Given the description of an element on the screen output the (x, y) to click on. 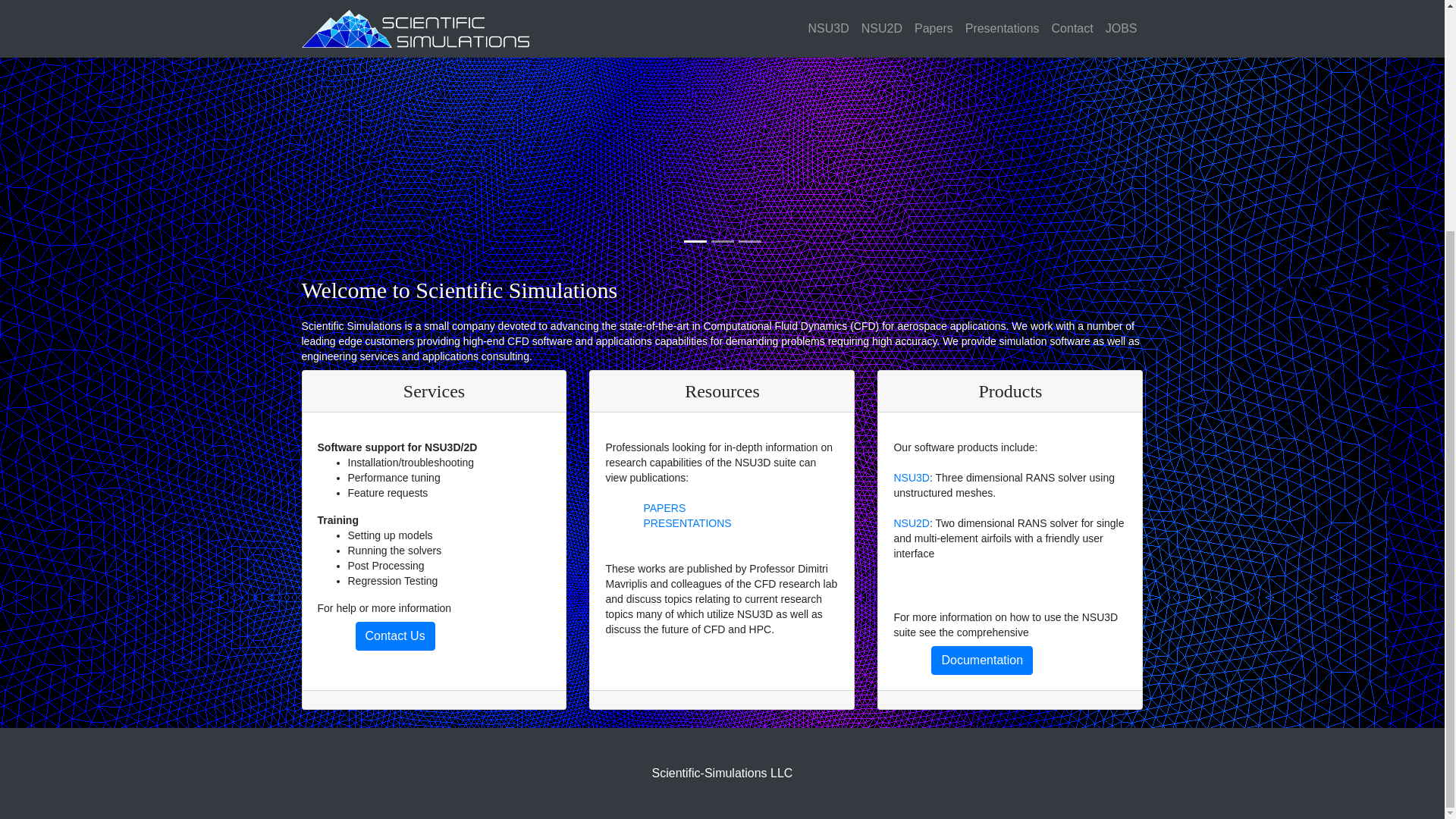
Documentation (981, 660)
NSU2D (910, 522)
PRESENTATIONS (686, 522)
Contact Us (394, 635)
PAPERS (664, 508)
NSU3D (910, 477)
